Given the description of an element on the screen output the (x, y) to click on. 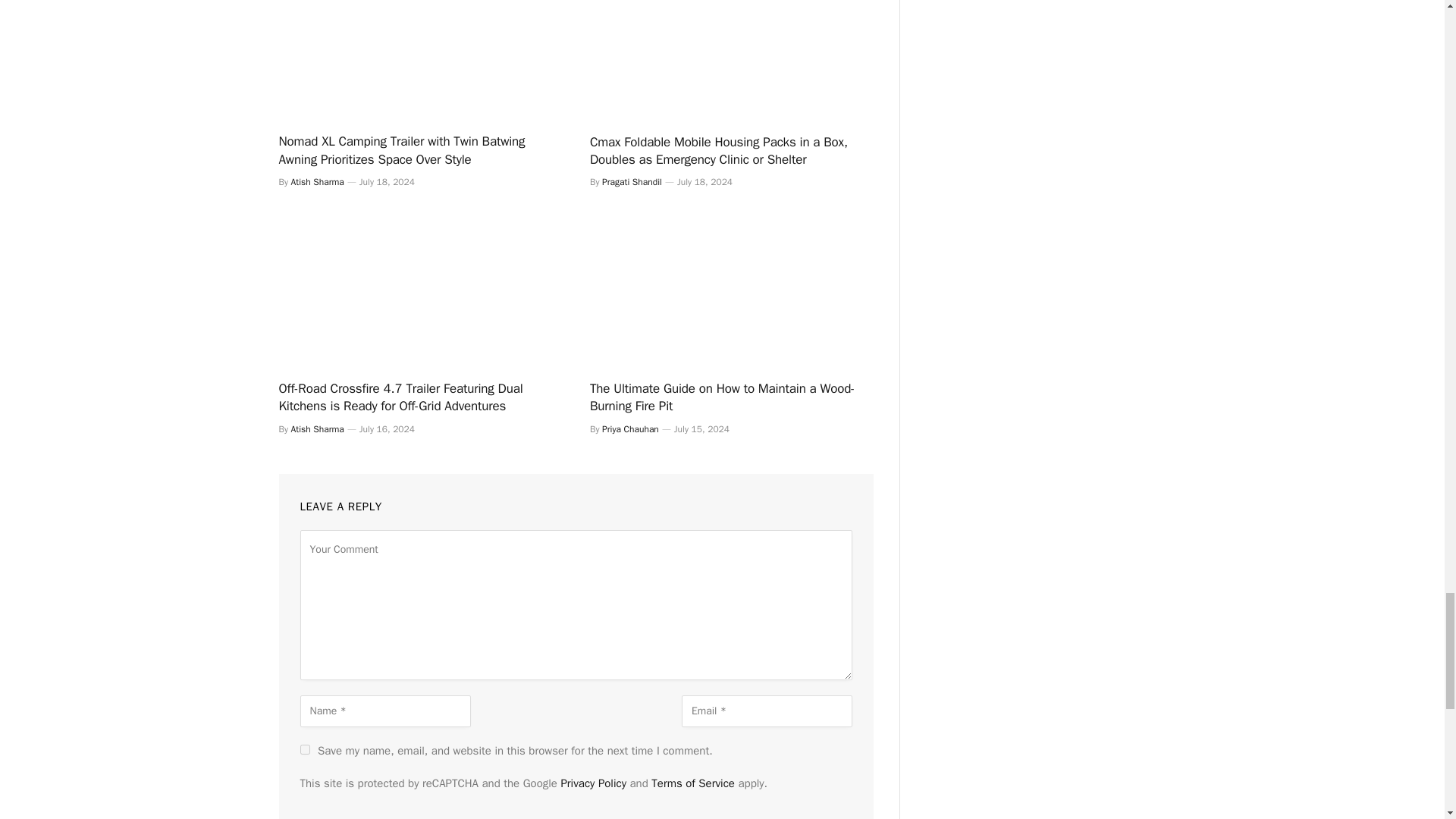
yes (304, 749)
